Given the description of an element on the screen output the (x, y) to click on. 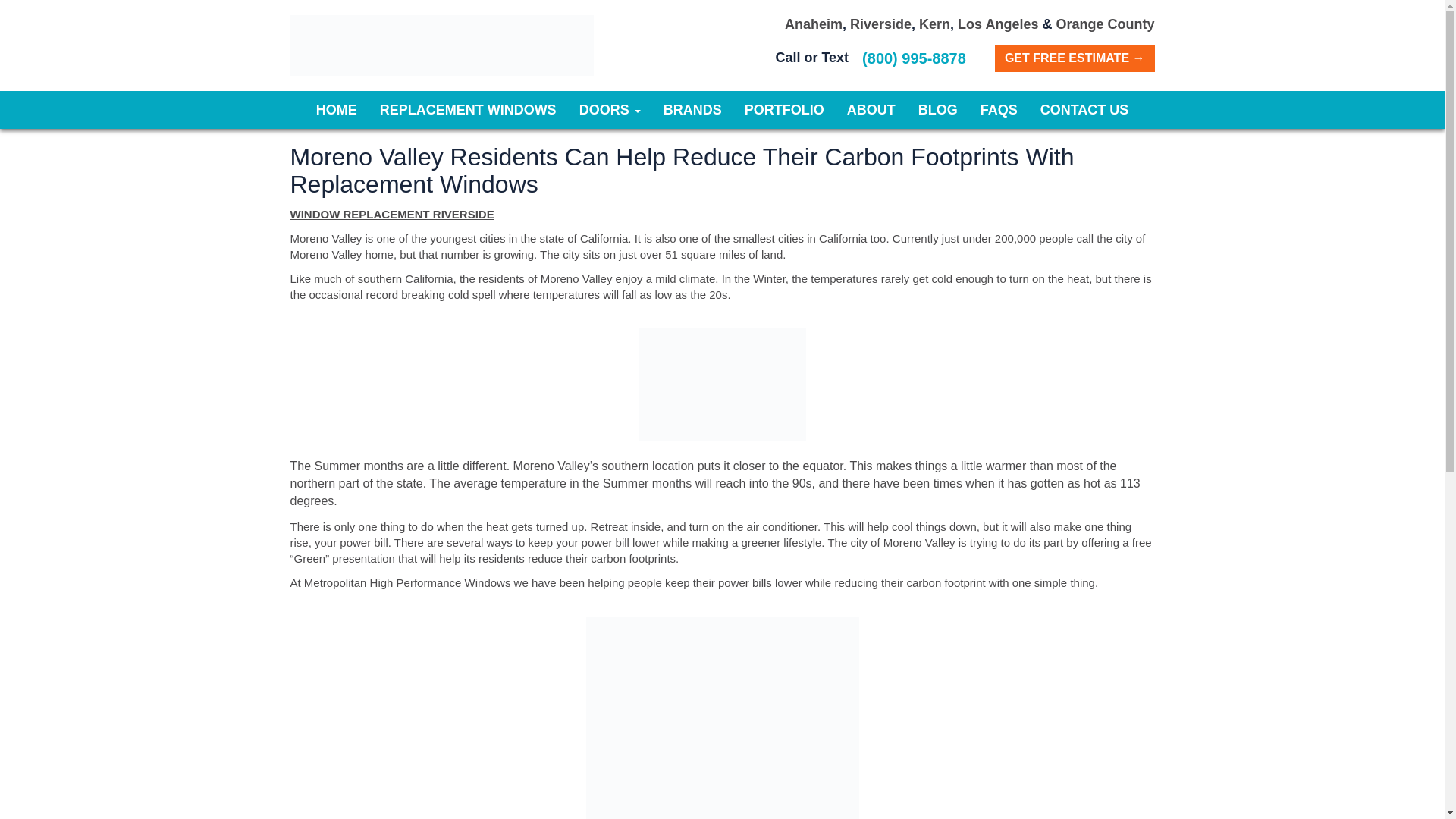
Metropolitan High Performance Windows (440, 45)
HOME (336, 109)
Replacement Windows (467, 109)
Brands (692, 109)
Home (336, 109)
Riverside (880, 23)
Kern (934, 23)
WINDOW REPLACEMENT RIVERSIDE (391, 214)
DOORS (609, 109)
Contact Us (1084, 109)
